Given the description of an element on the screen output the (x, y) to click on. 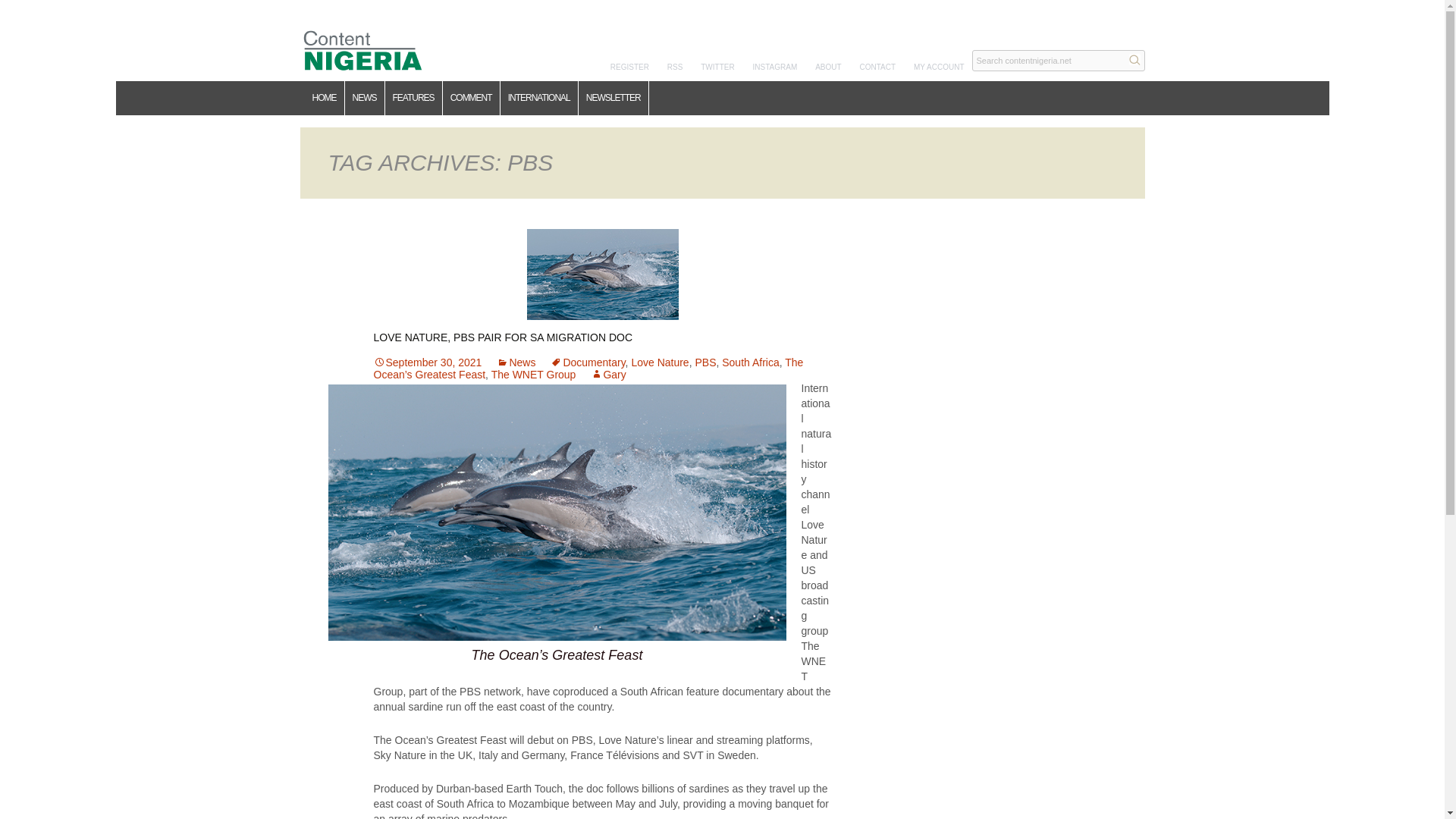
South Africa (750, 362)
INTERNATIONAL (539, 98)
The WNET Group (534, 374)
Content Nigeria (362, 48)
Love Nature (659, 362)
Search (1134, 59)
NEWSLETTER (613, 98)
Documentary (587, 362)
TWITTER (717, 67)
ABOUT (828, 67)
FEATURES (413, 98)
Search for: (1058, 60)
NEWS (363, 98)
September 30, 2021 (426, 362)
CONTACT (877, 67)
